Given the description of an element on the screen output the (x, y) to click on. 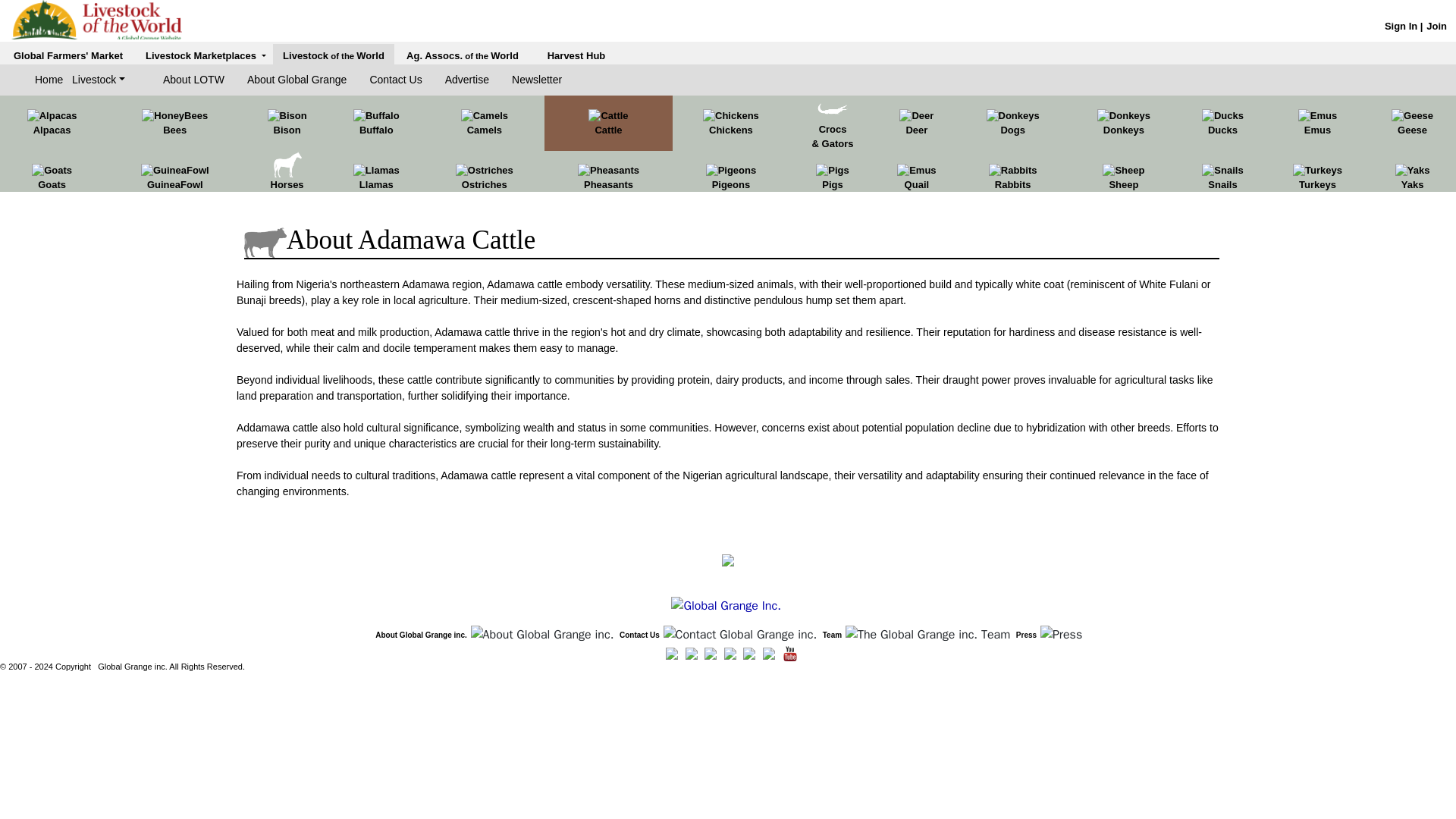
Join (1436, 25)
Livestock of the World (333, 55)
Harvest Hub (576, 55)
Home    (52, 79)
Livestock (98, 79)
Livestock Marketplaces (205, 55)
Global Farmers' Market (67, 55)
Ag. Assocs. of the World (462, 55)
